Given the description of an element on the screen output the (x, y) to click on. 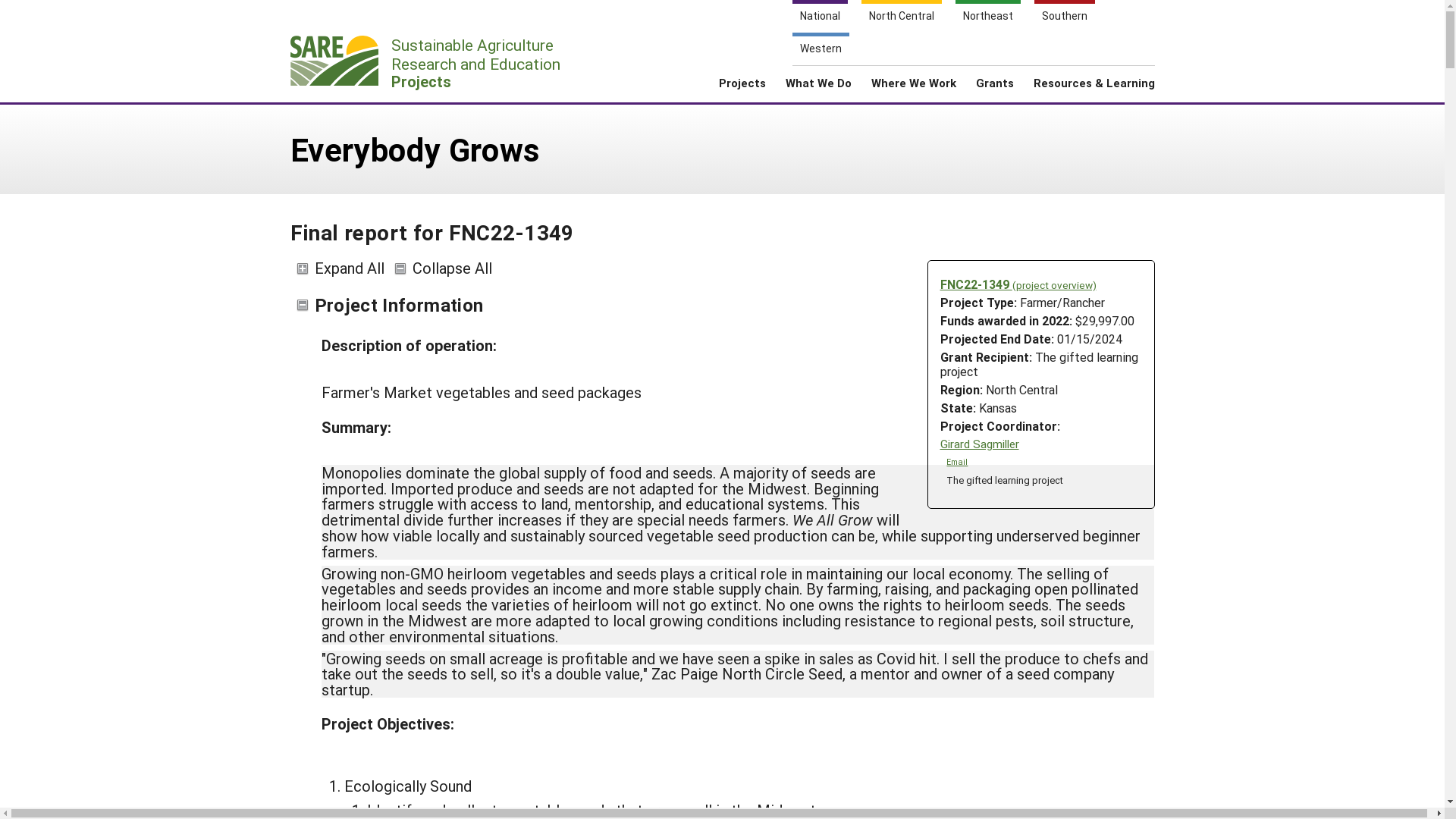
What We Do (818, 88)
Search (1146, 54)
News (1038, 60)
Email (429, 62)
Login (957, 461)
Girard Sagmiller (995, 60)
Northeast (979, 443)
Southern (987, 16)
About SARE (1063, 16)
North Central (1094, 60)
Western (901, 16)
Where We Work (820, 48)
Projects (912, 88)
Grants (742, 88)
